Given the description of an element on the screen output the (x, y) to click on. 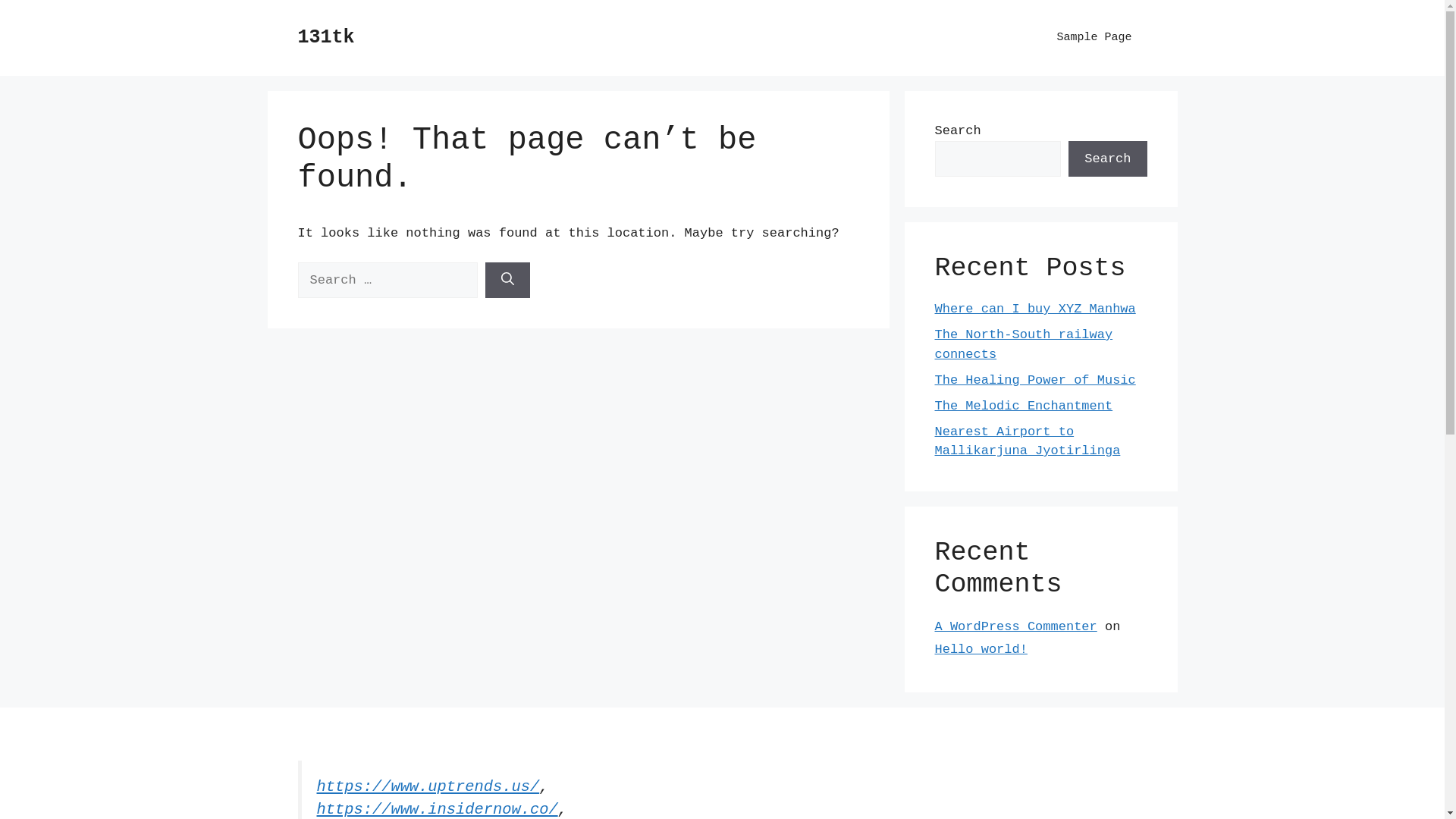
The Melodic Enchantment Element type: text (1023, 405)
The Healing Power of Music Element type: text (1034, 380)
Search Element type: text (1107, 159)
Hello world! Element type: text (980, 649)
Nearest Airport to Mallikarjuna Jyotirlinga Element type: text (1027, 441)
Sample Page Element type: text (1093, 37)
131tk Element type: text (325, 37)
The North-South railway connects Element type: text (1023, 344)
https://www.insidernow.co/ Element type: text (437, 809)
Search for: Element type: hover (386, 280)
Where can I buy XYZ Manhwa Element type: text (1034, 308)
A WordPress Commenter Element type: text (1015, 625)
https://www.uptrends.us/ Element type: text (427, 786)
